Given the description of an element on the screen output the (x, y) to click on. 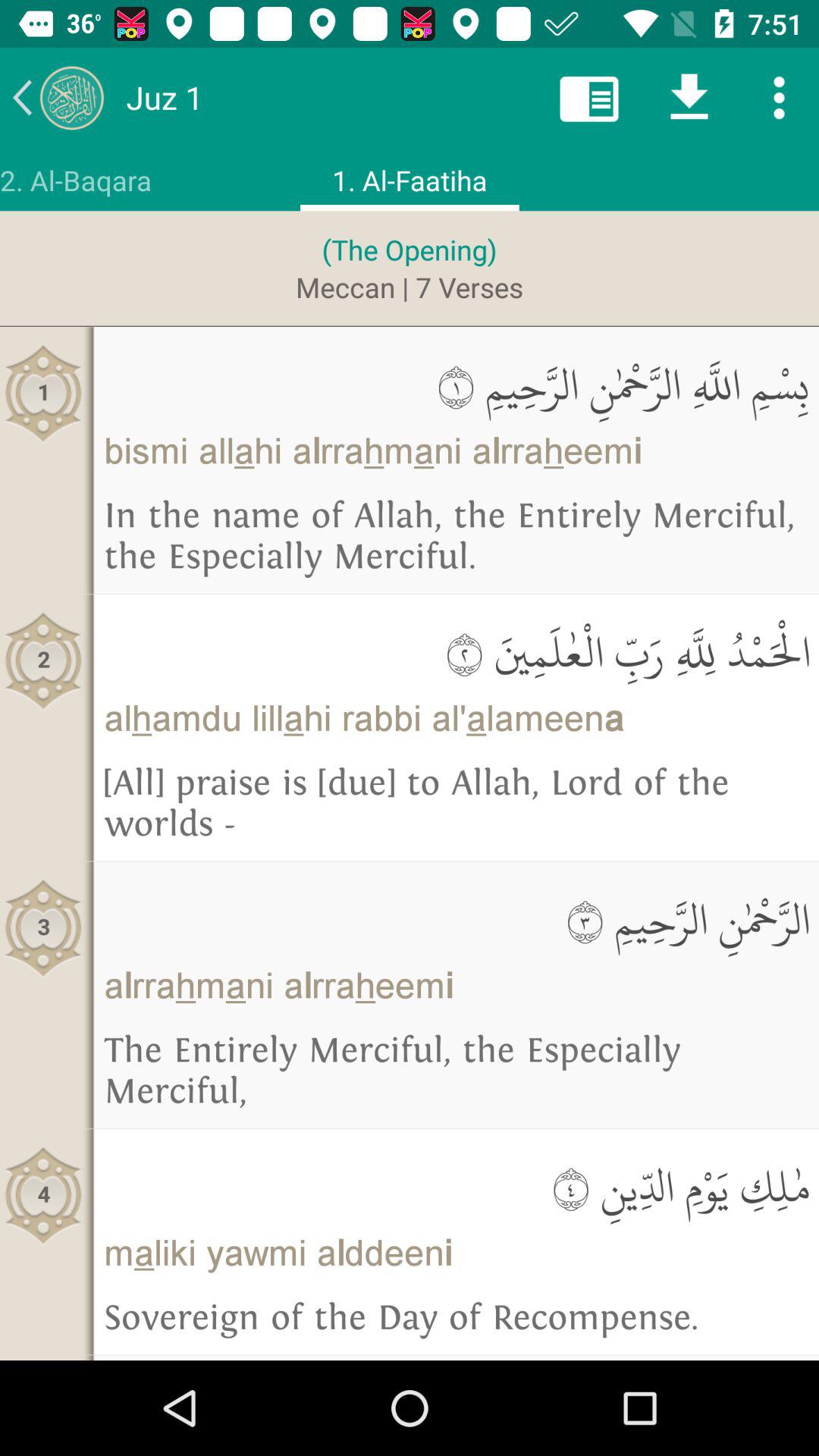
tap the icon next to 4 item (456, 1186)
